Given the description of an element on the screen output the (x, y) to click on. 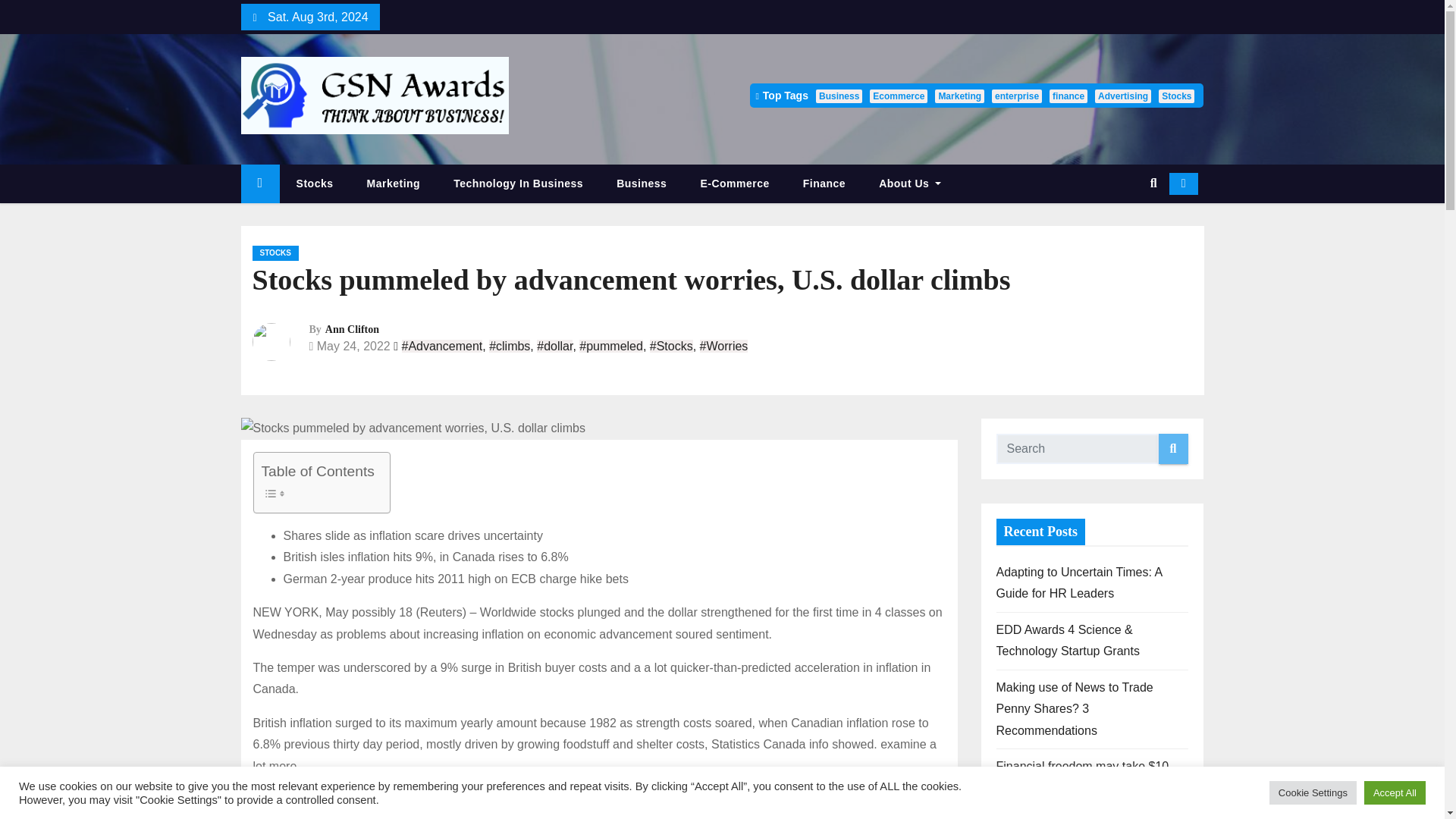
E-Commerce (734, 183)
Technology In Business (517, 183)
Finance (823, 183)
Technology in Business (517, 183)
Marketing (959, 96)
finance (1068, 96)
Business (640, 183)
About Us (909, 183)
Stocks (1175, 96)
Home (260, 183)
